Given the description of an element on the screen output the (x, y) to click on. 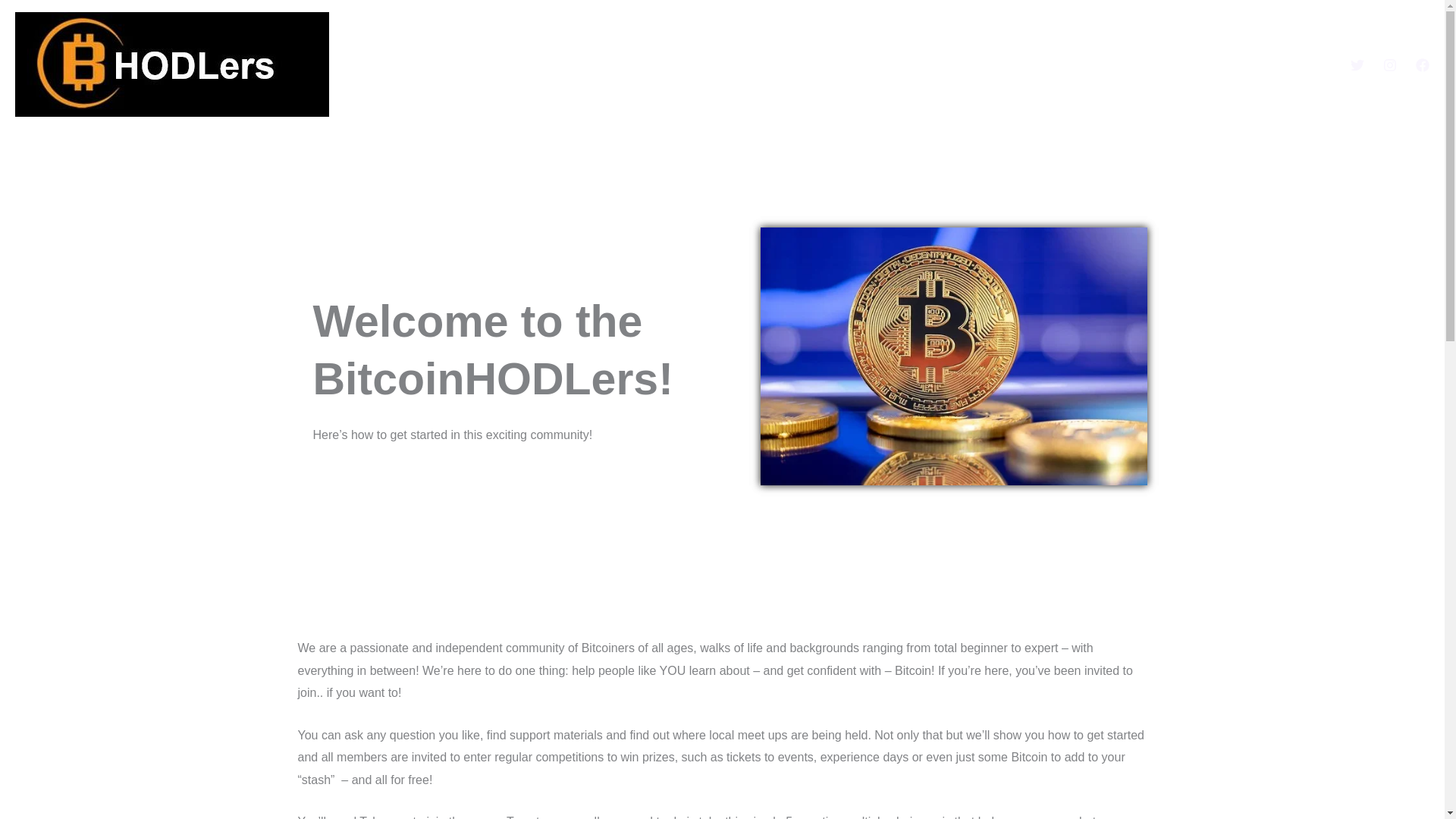
EARN Bitcoin (1286, 64)
Learn Bitcoin (1189, 64)
Monthly Competition (1074, 64)
